Given the description of an element on the screen output the (x, y) to click on. 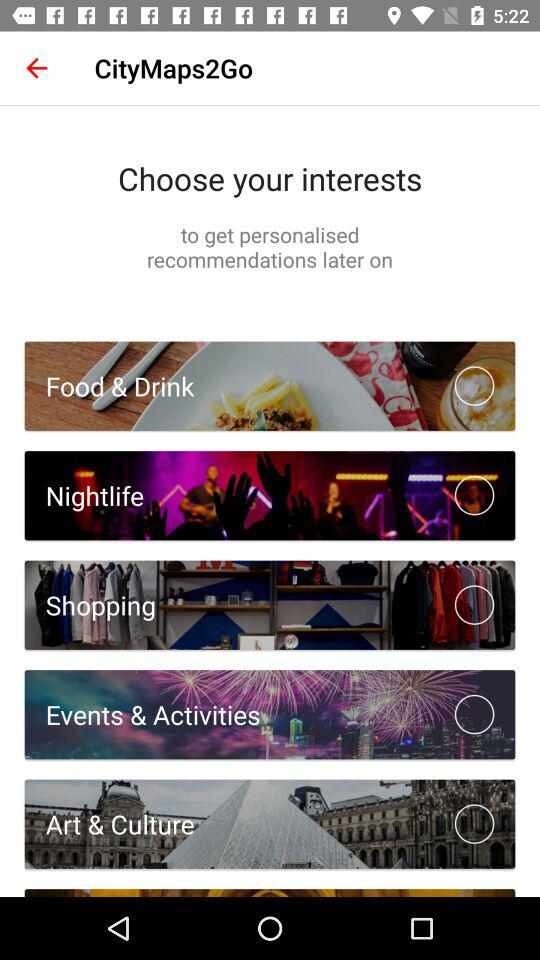
jump to events & activities item (142, 714)
